Given the description of an element on the screen output the (x, y) to click on. 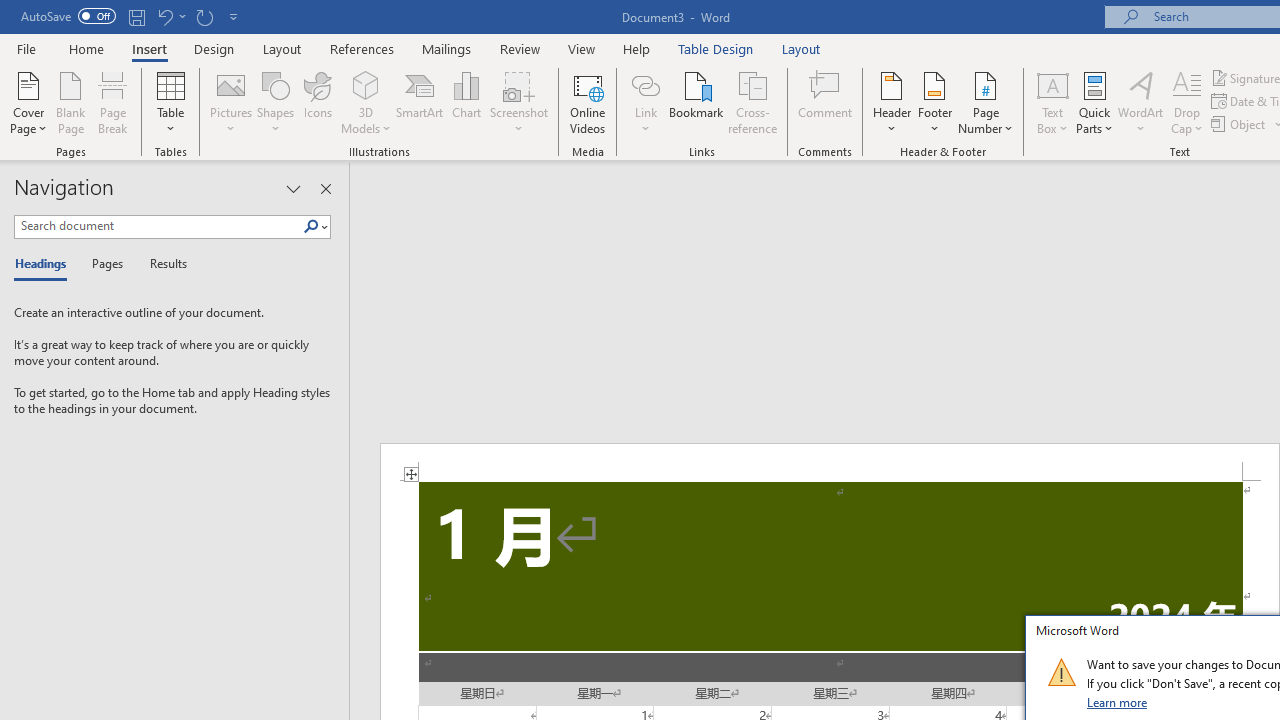
Link (645, 84)
Online Videos... (588, 102)
Chart... (466, 102)
Page Break (113, 102)
Object... (1240, 124)
